Given the description of an element on the screen output the (x, y) to click on. 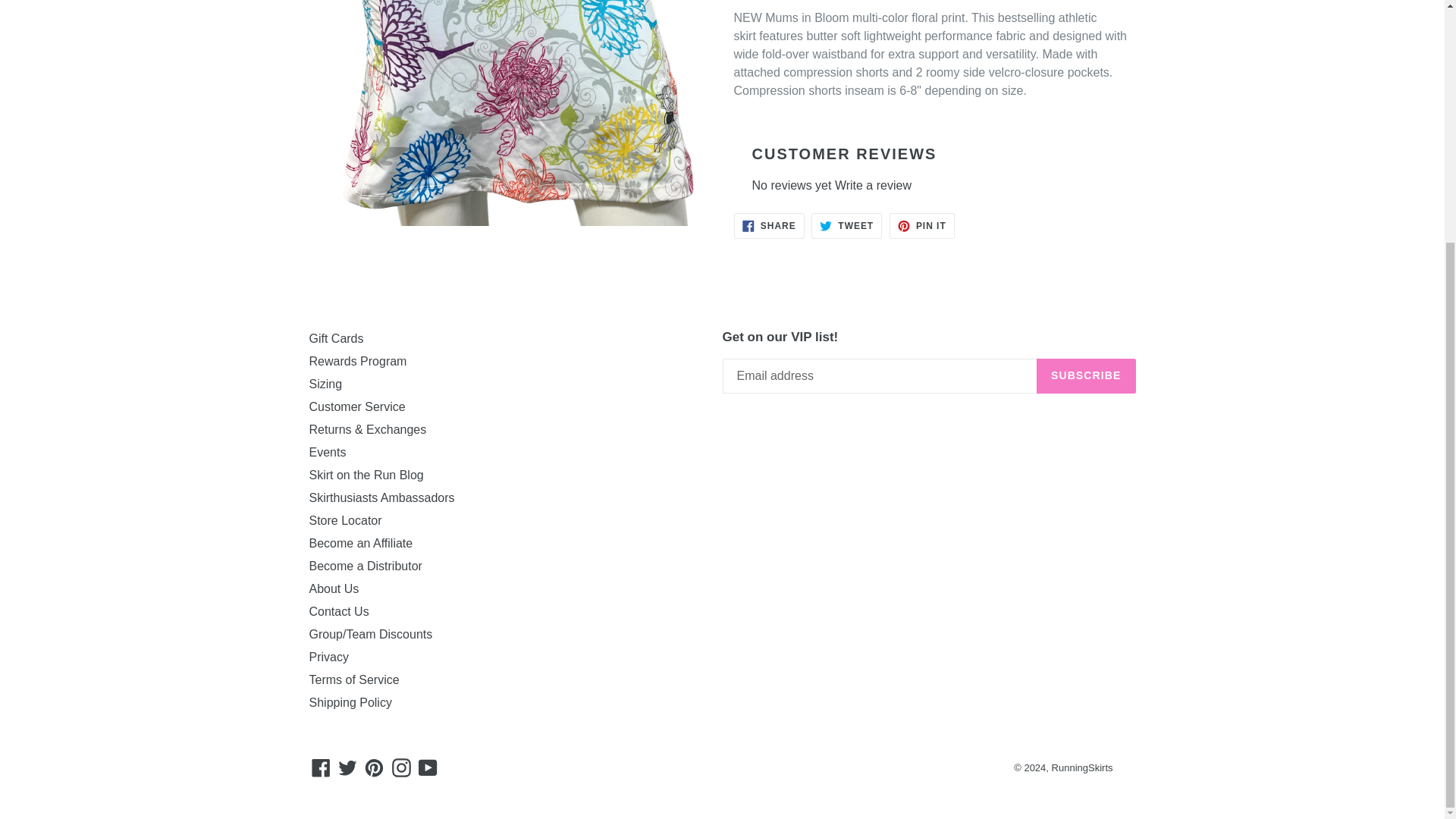
RunningSkirts on Pinterest (373, 767)
RunningSkirts on Facebook (320, 767)
Share on Facebook (769, 225)
Pin on Pinterest (922, 225)
Tweet on Twitter (846, 225)
RunningSkirts on Twitter (347, 767)
RunningSkirts on YouTube (427, 767)
RunningSkirts on Instagram (401, 767)
